Given the description of an element on the screen output the (x, y) to click on. 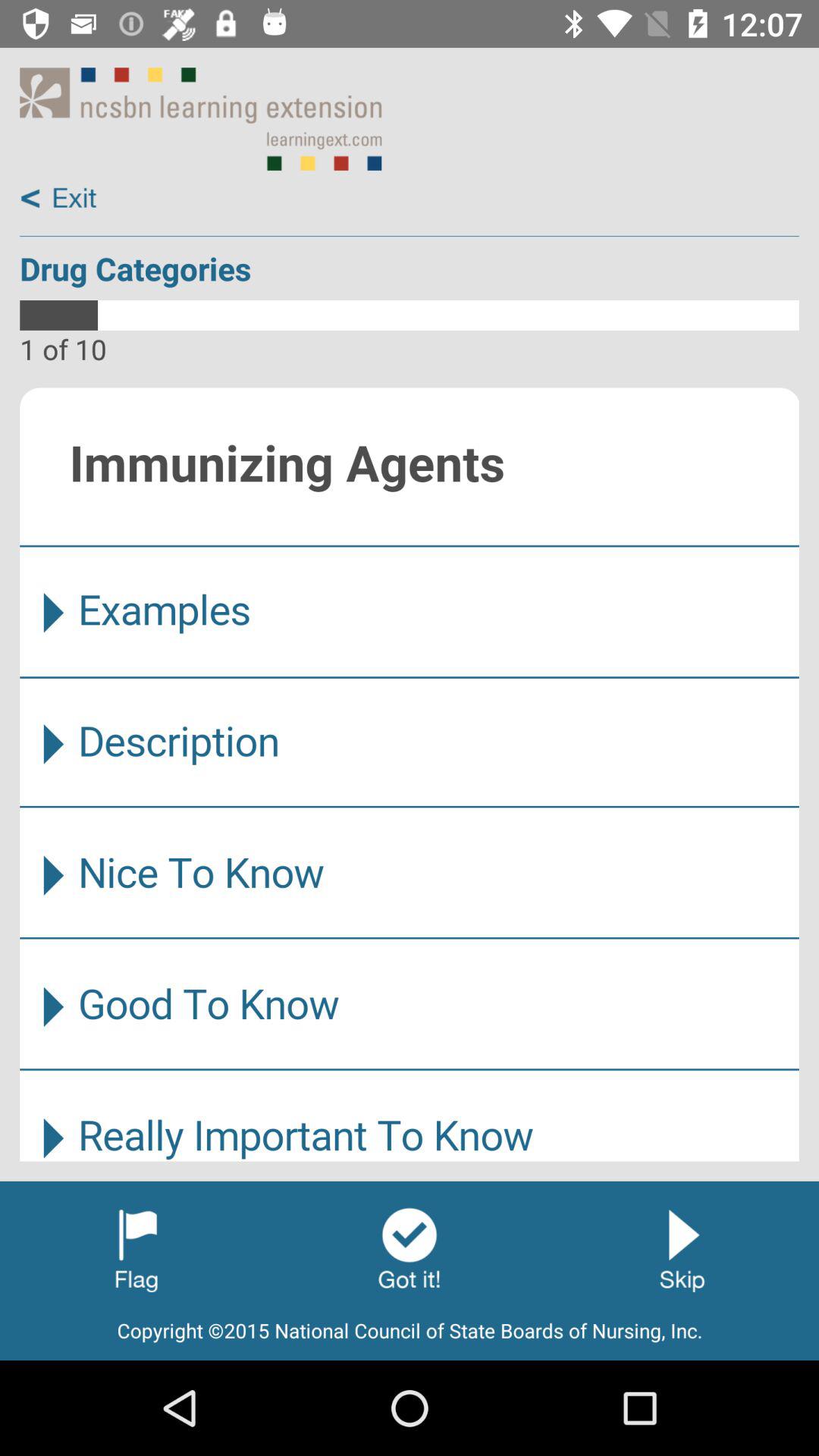
next screen (409, 1248)
